Given the description of an element on the screen output the (x, y) to click on. 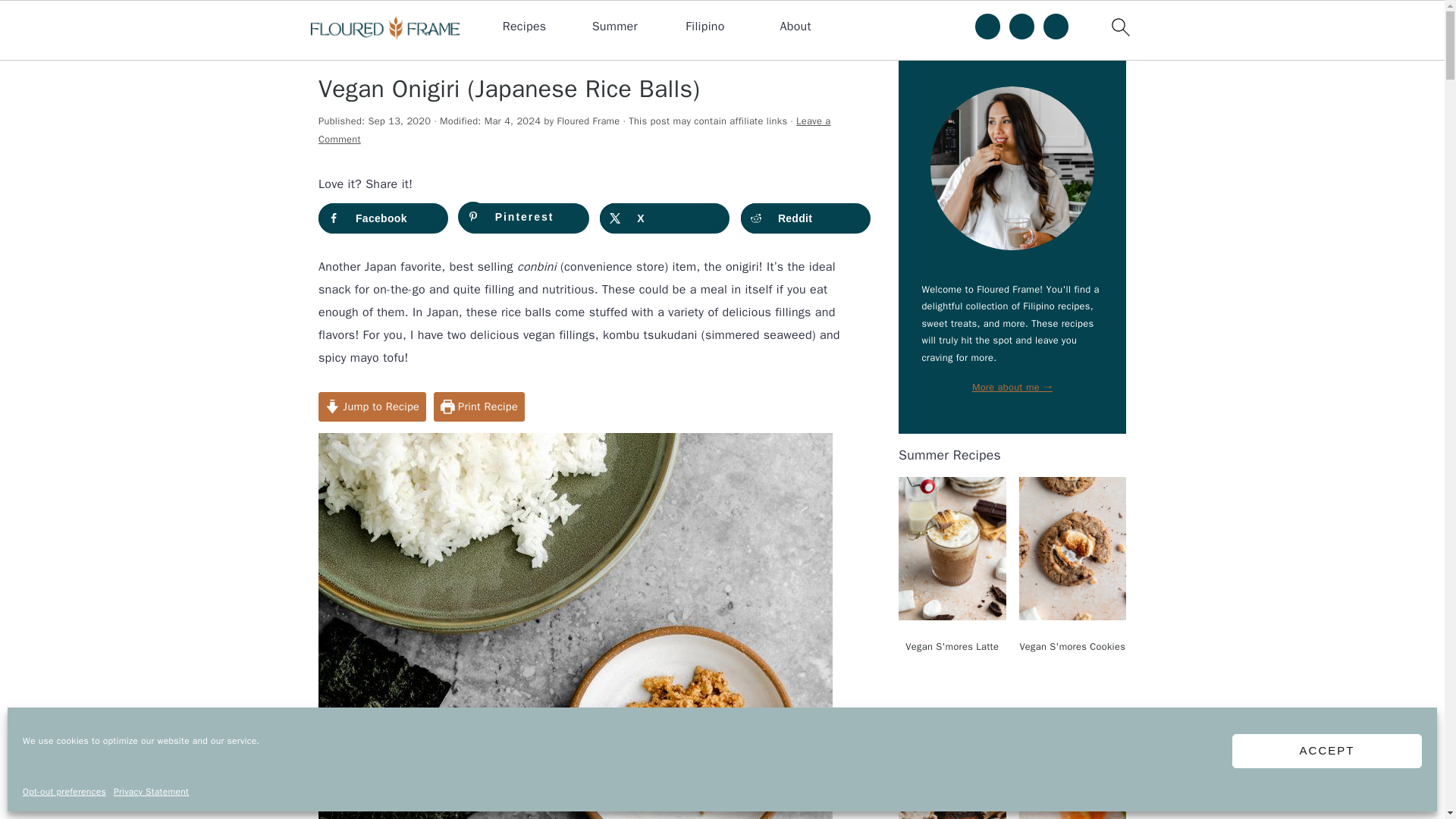
ACCEPT (1326, 750)
Share on Facebook (383, 218)
Opt-out preferences (64, 791)
Share on X (664, 218)
Summer (614, 26)
Home (334, 50)
Recipes (524, 26)
About (794, 26)
Share on Reddit (805, 218)
search icon (1119, 26)
Filipino (704, 26)
Privacy Statement (151, 791)
Save to Pinterest (524, 218)
